Given the description of an element on the screen output the (x, y) to click on. 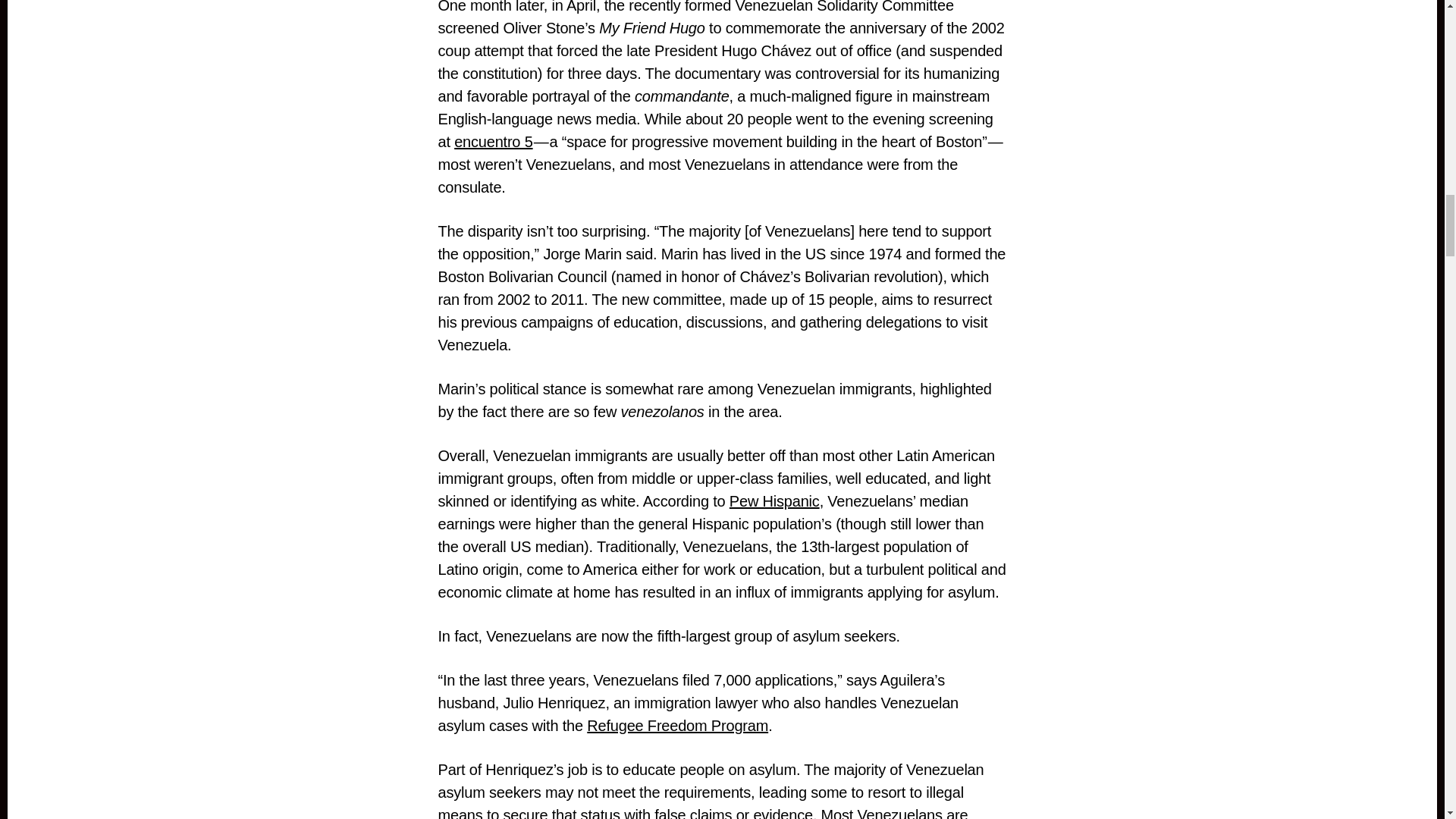
Refugee Freedom Program (677, 725)
encuentro 5 (493, 141)
Pew Hispanic (774, 501)
